Given the description of an element on the screen output the (x, y) to click on. 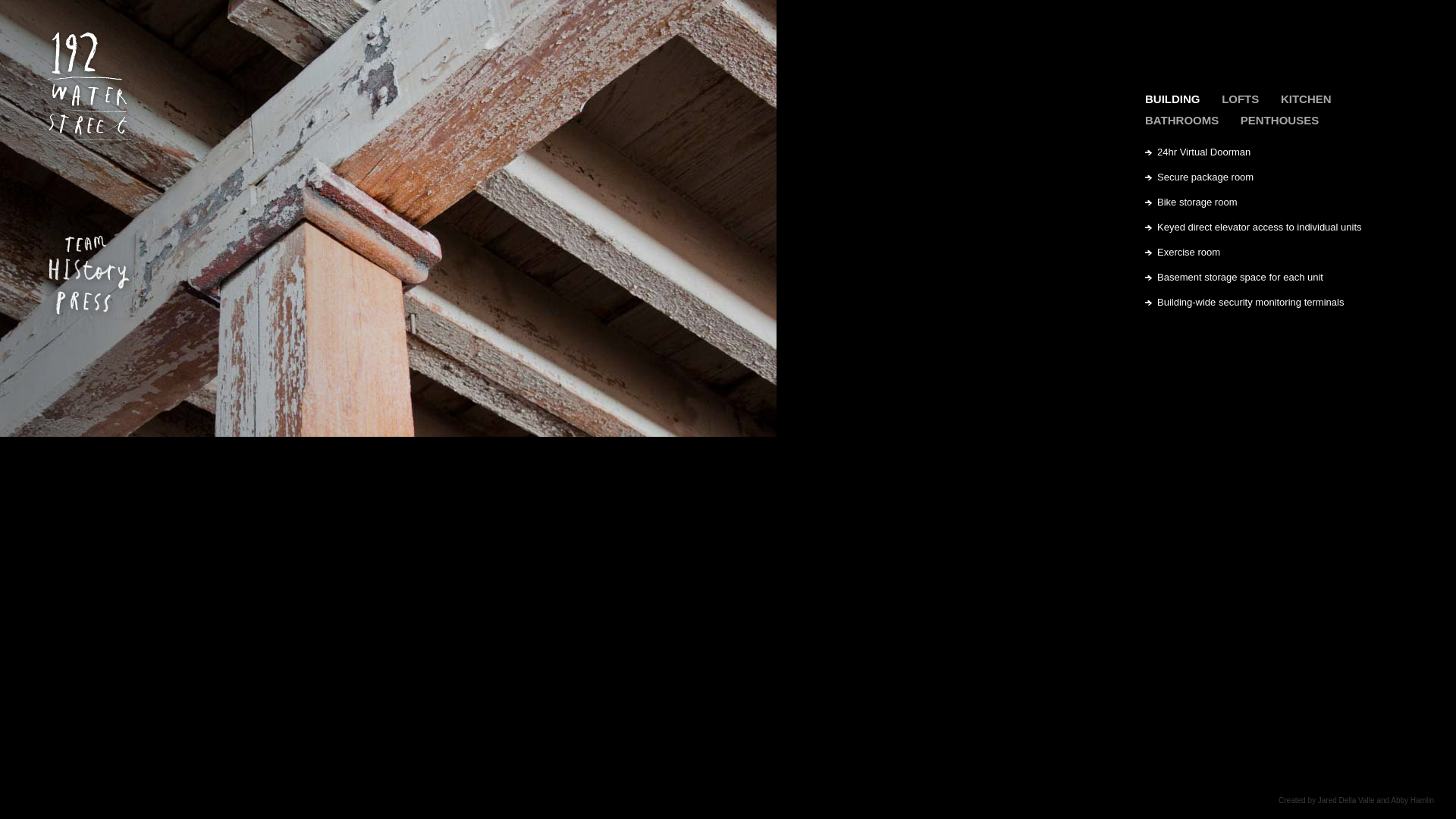
  Element type: text (83, 186)
BUILDING Element type: text (1172, 99)
PENTHOUSES Element type: text (1279, 120)
  Element type: text (83, 244)
KITCHEN Element type: text (1305, 99)
  Element type: text (88, 270)
  Element type: text (81, 301)
LOFTS Element type: text (1239, 99)
BATHROOMS Element type: text (1181, 120)
  Element type: text (87, 219)
